Given the description of an element on the screen output the (x, y) to click on. 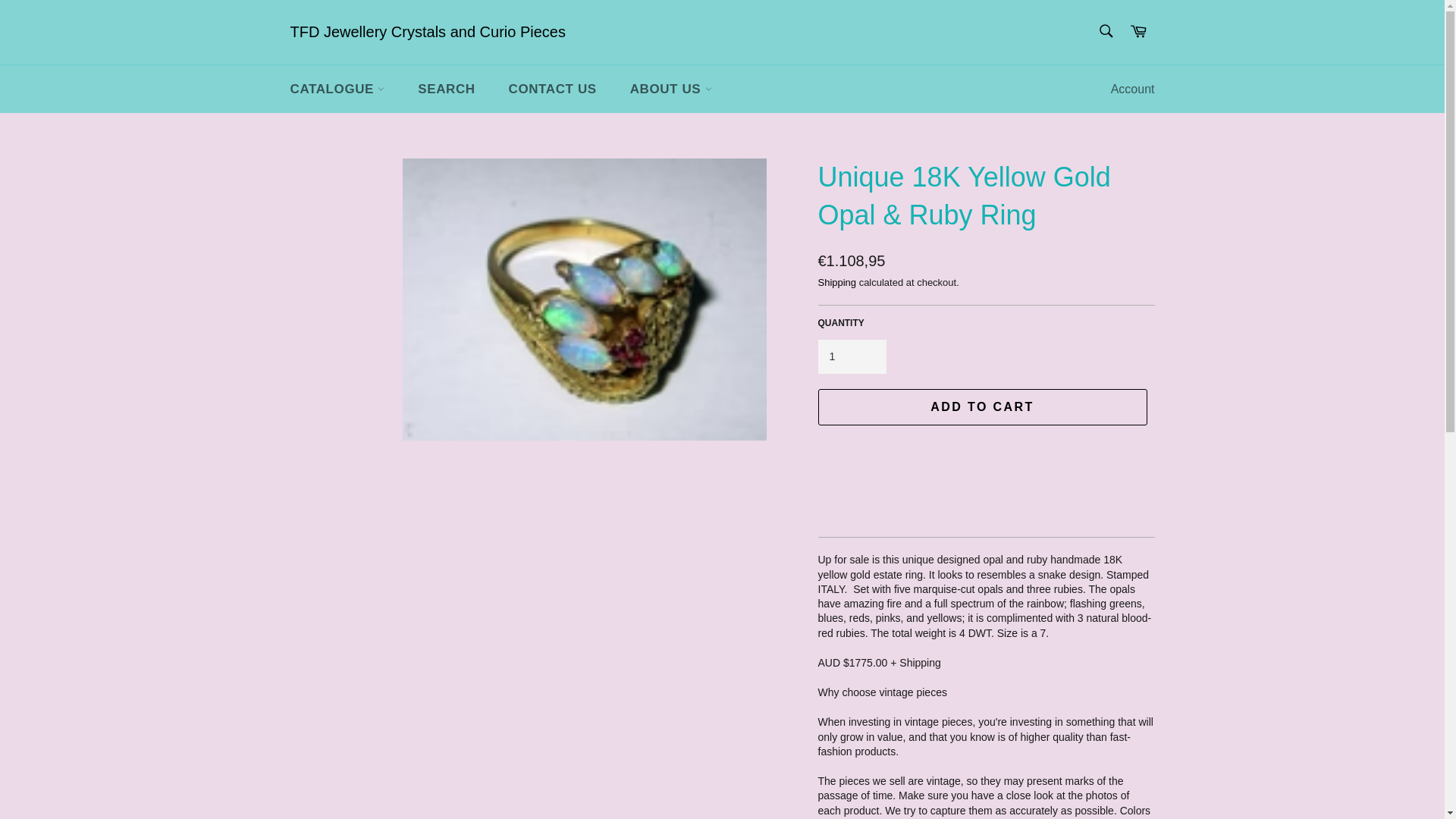
TFD Jewellery Crystals and Curio Pieces (426, 32)
Cart (1138, 32)
Account (1132, 89)
1 (850, 356)
ABOUT US (670, 89)
CONTACT US (552, 89)
Search (1104, 30)
SEARCH (446, 89)
CATALOGUE (336, 89)
